Given the description of an element on the screen output the (x, y) to click on. 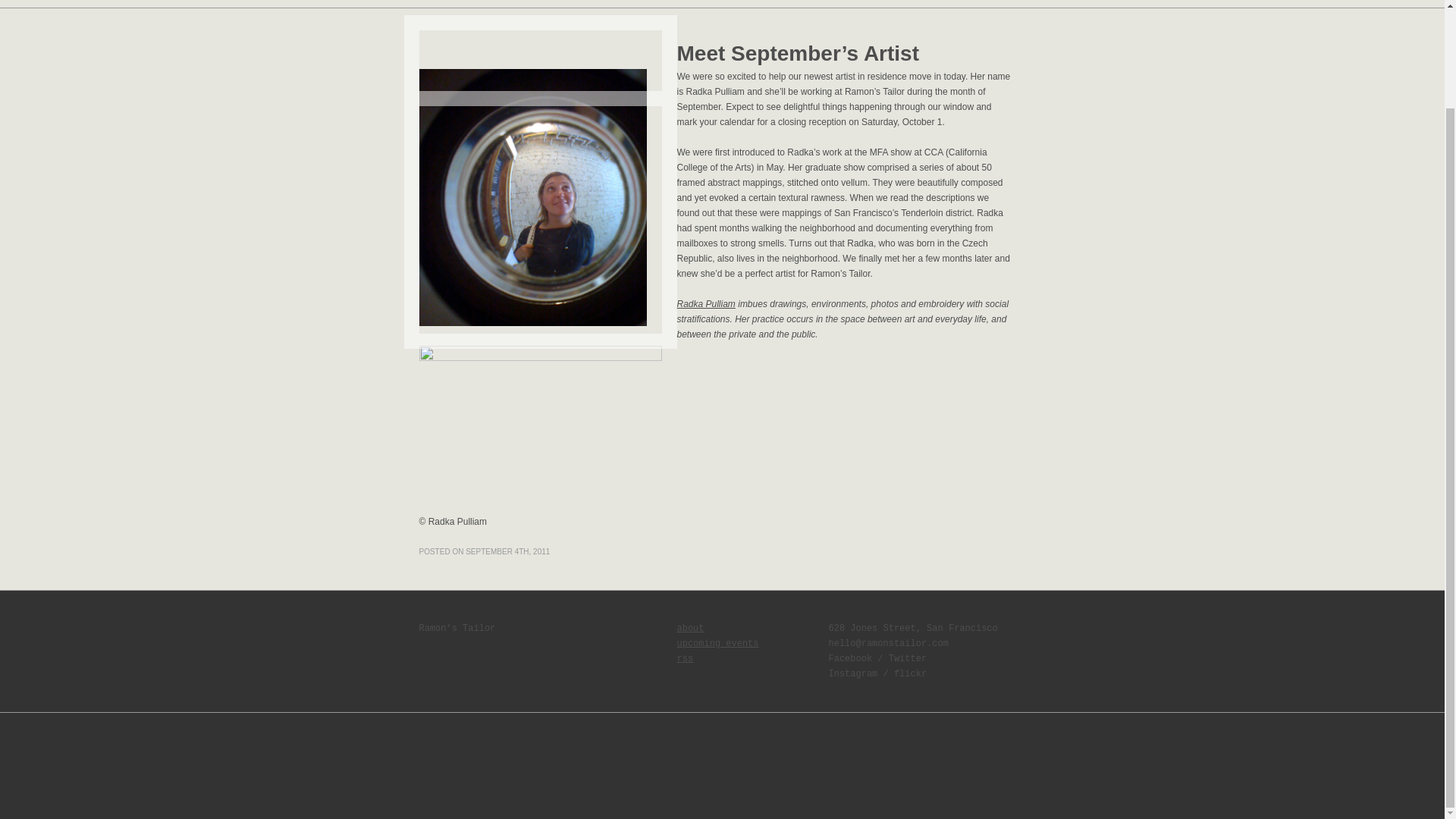
flickr (909, 674)
upcoming events (717, 643)
628 Jones Street, San Francisco (912, 628)
walk grid detail (540, 429)
Twitter (907, 658)
Instagram (852, 674)
about (690, 628)
Radka Pulliam (706, 303)
Facebook (850, 658)
rss (685, 658)
